Given the description of an element on the screen output the (x, y) to click on. 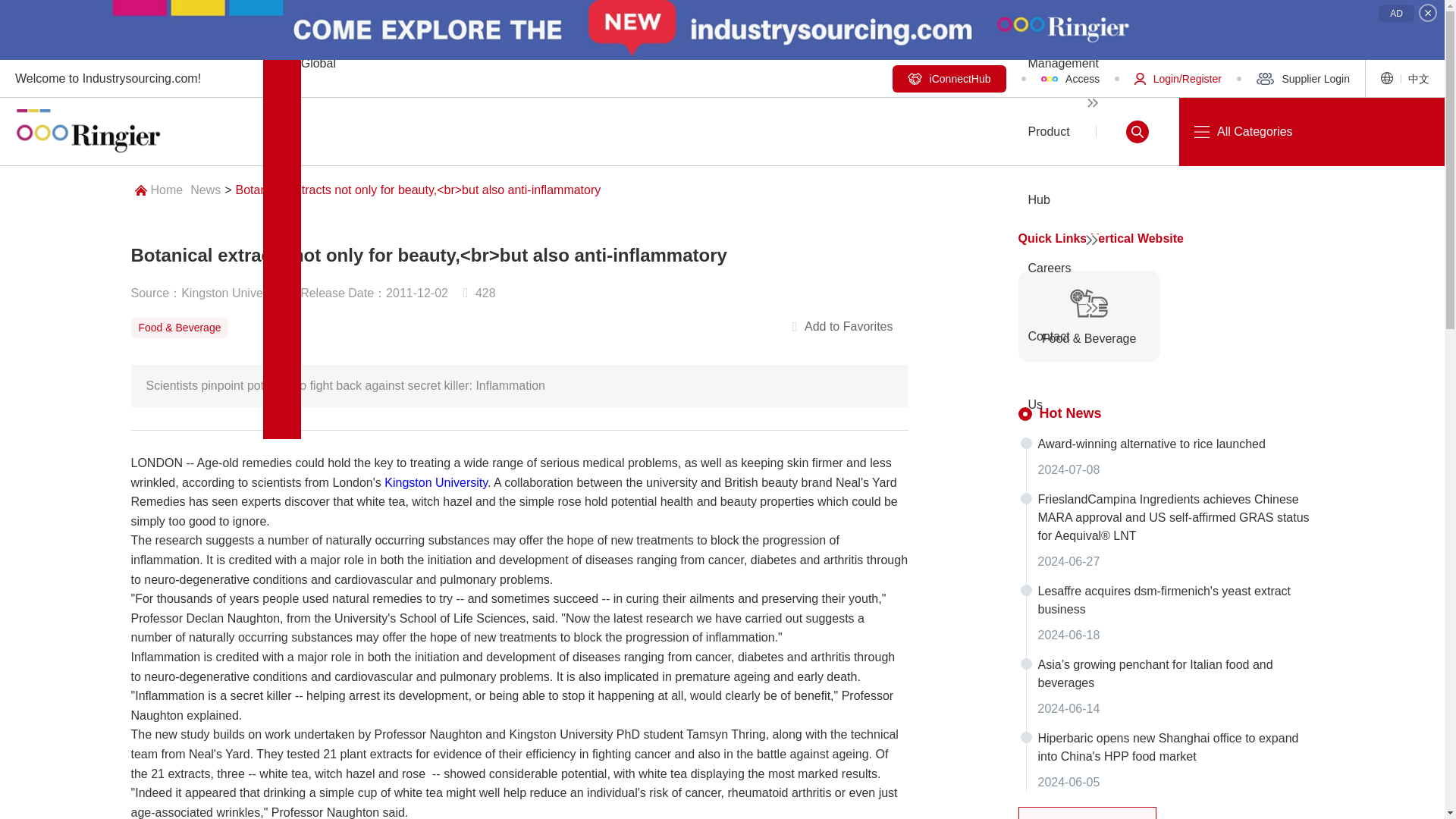
Access (1061, 78)
Supplier Login (1292, 78)
iConnectHub (949, 78)
